Given the description of an element on the screen output the (x, y) to click on. 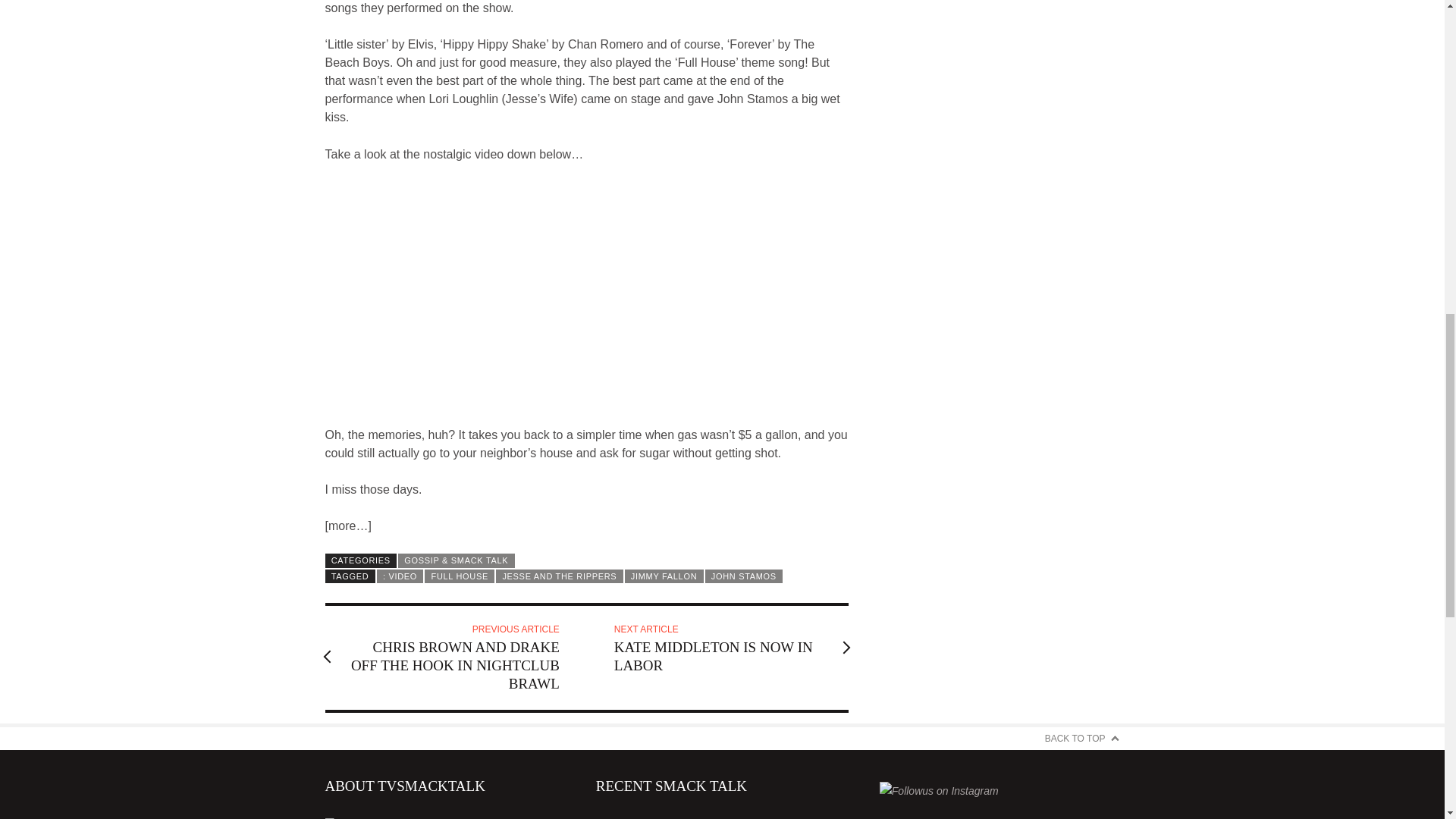
View all posts tagged jesse and the rippers (559, 576)
View all posts tagged Jimmy Fallon (663, 576)
View all posts tagged full house (460, 576)
View all posts tagged john stamos (743, 576)
View all posts tagged : Video (400, 576)
